Given the description of an element on the screen output the (x, y) to click on. 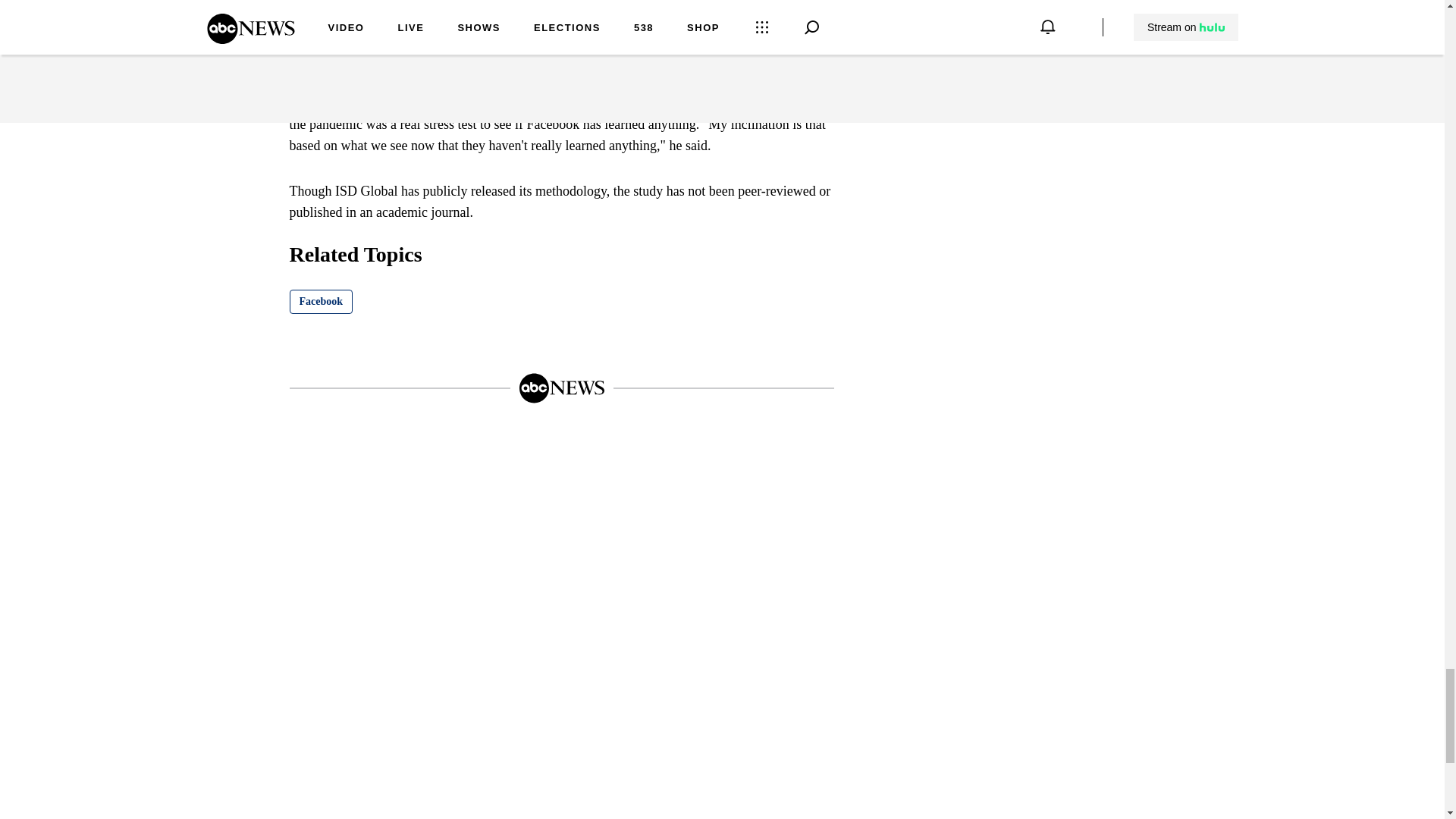
Facebook (321, 301)
